Given the description of an element on the screen output the (x, y) to click on. 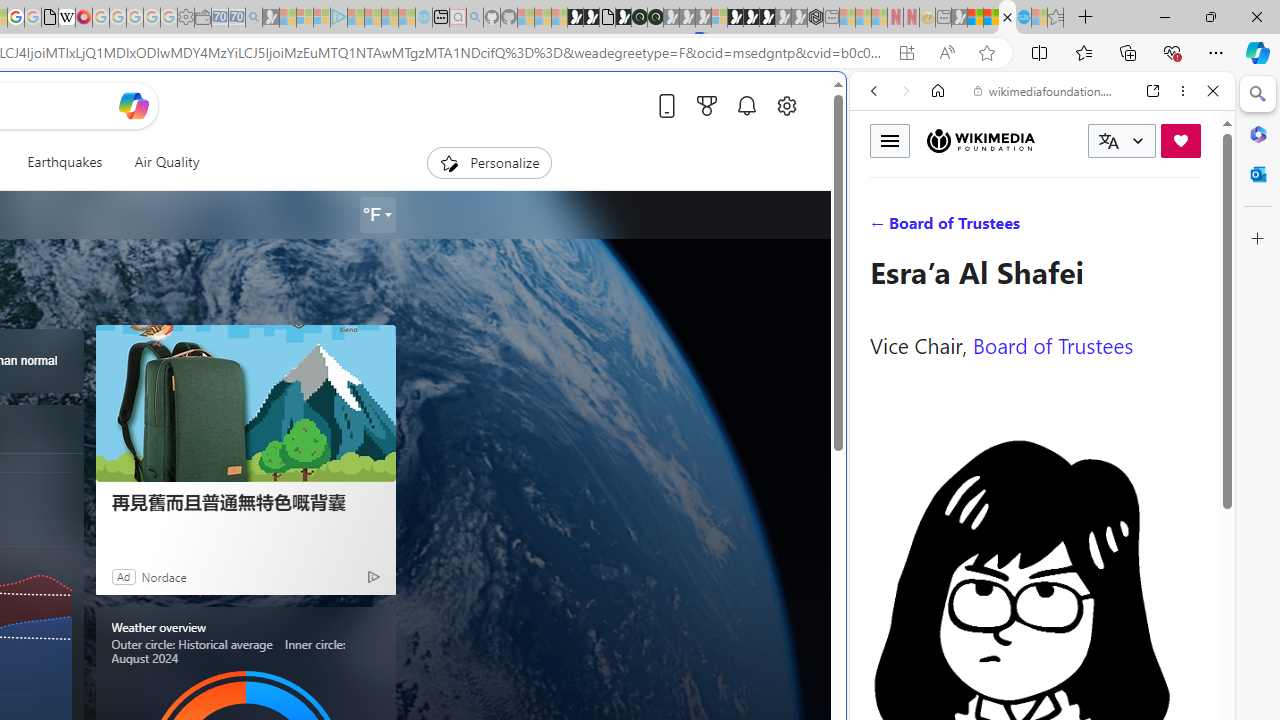
Search or enter web address (343, 191)
Wiktionary (1034, 669)
Sign in to your account - Sleeping (719, 17)
